Given the description of an element on the screen output the (x, y) to click on. 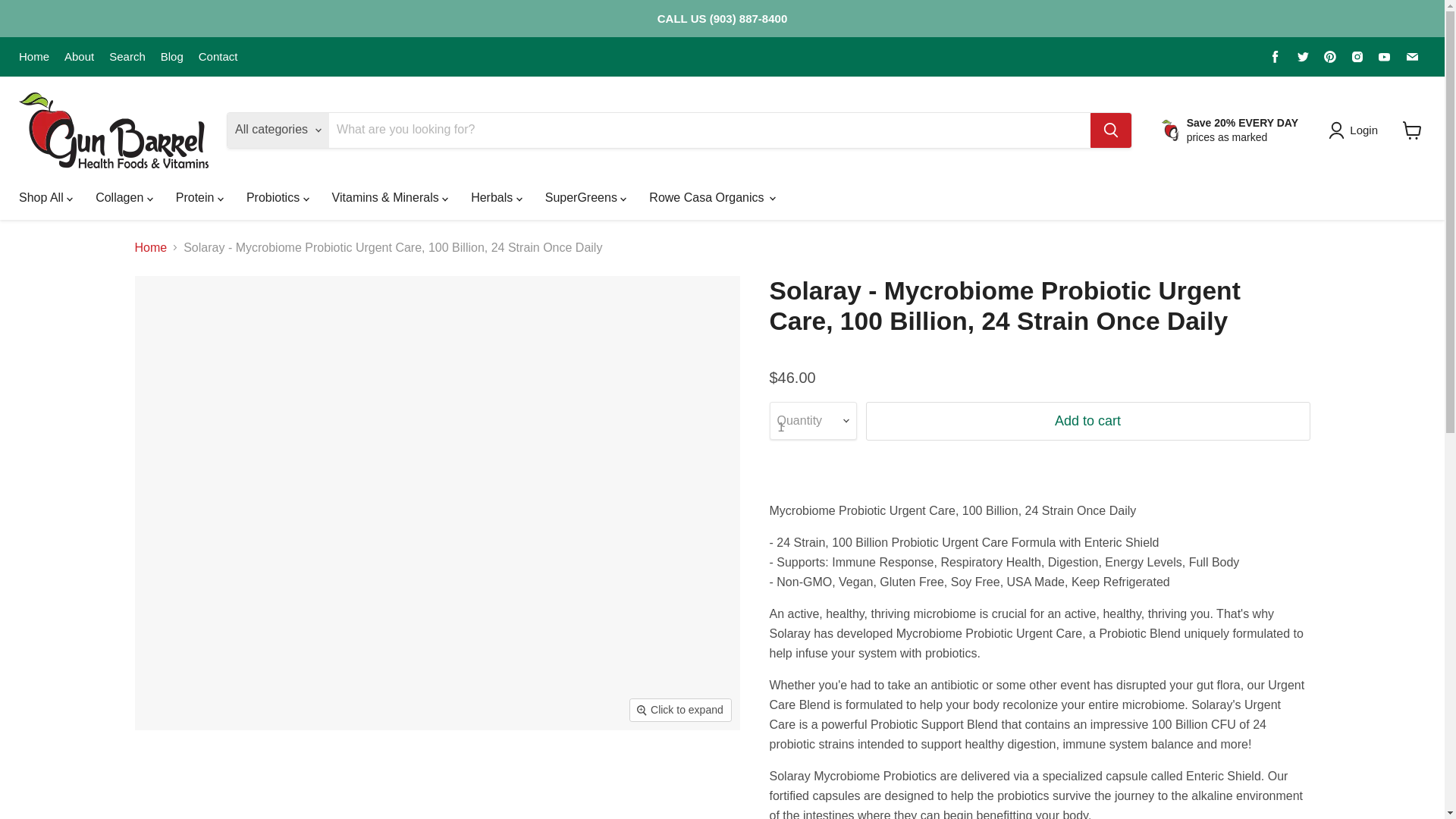
Login (1363, 130)
Contact (218, 56)
About (79, 56)
Find us on Pinterest (1329, 55)
Twitter (1302, 55)
Find us on Email (1411, 55)
Youtube (1384, 55)
Search (127, 56)
Find us on Instagram (1357, 55)
Instagram (1357, 55)
Home (33, 56)
Email (1411, 55)
View cart (1411, 130)
Find us on Facebook (1275, 55)
Blog (171, 56)
